Given the description of an element on the screen output the (x, y) to click on. 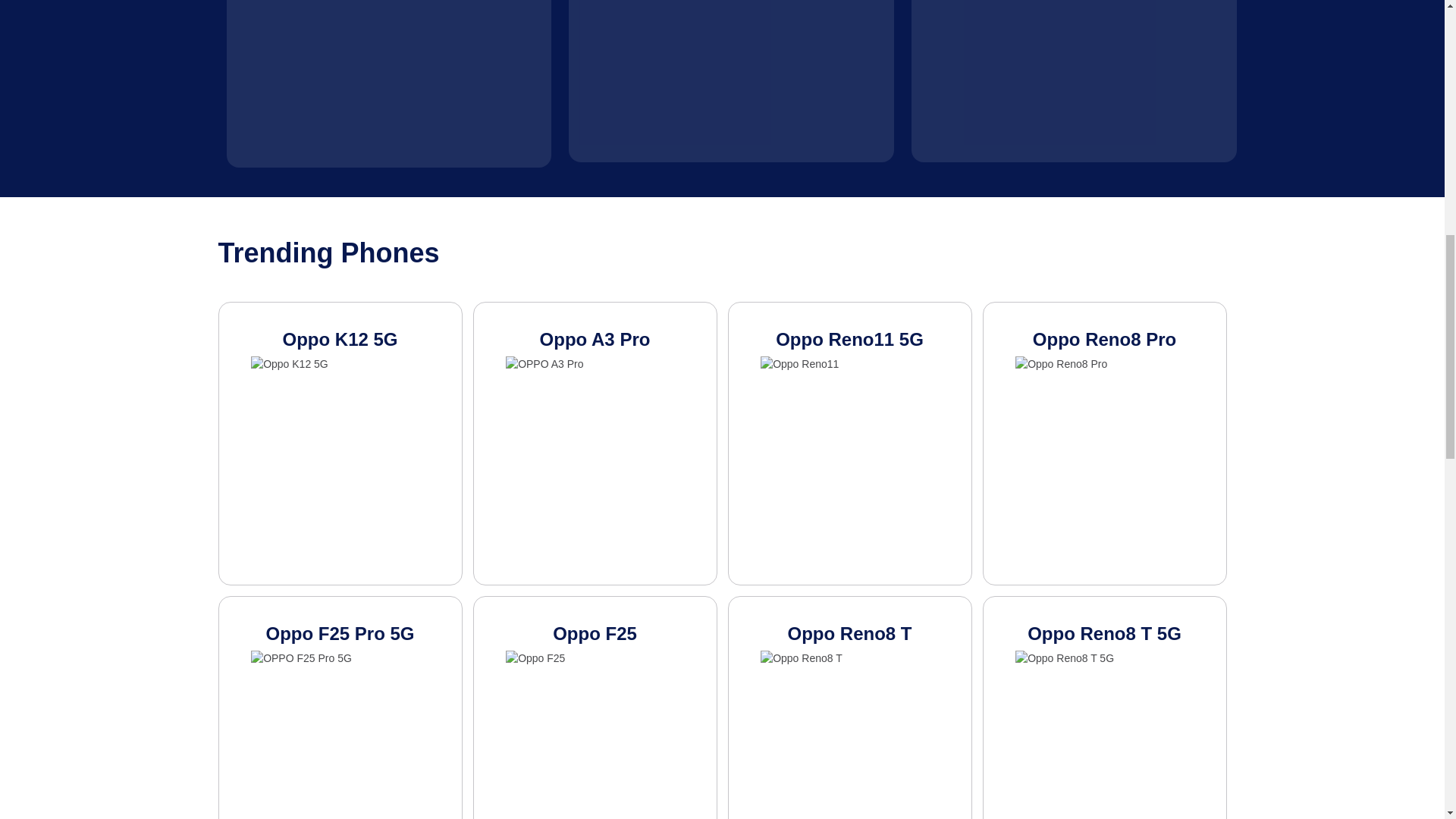
Oppo K12x (1073, 81)
Oppo Reno 12 Pro (731, 81)
Oppo F25 Pro 5G (340, 707)
Oppo Reno11 5G (850, 443)
Oppo K12 5G (340, 443)
Oppo Reno8 Pro (1104, 443)
Oppo Reno 12 (389, 83)
Oppo A3 Pro (595, 443)
